Given the description of an element on the screen output the (x, y) to click on. 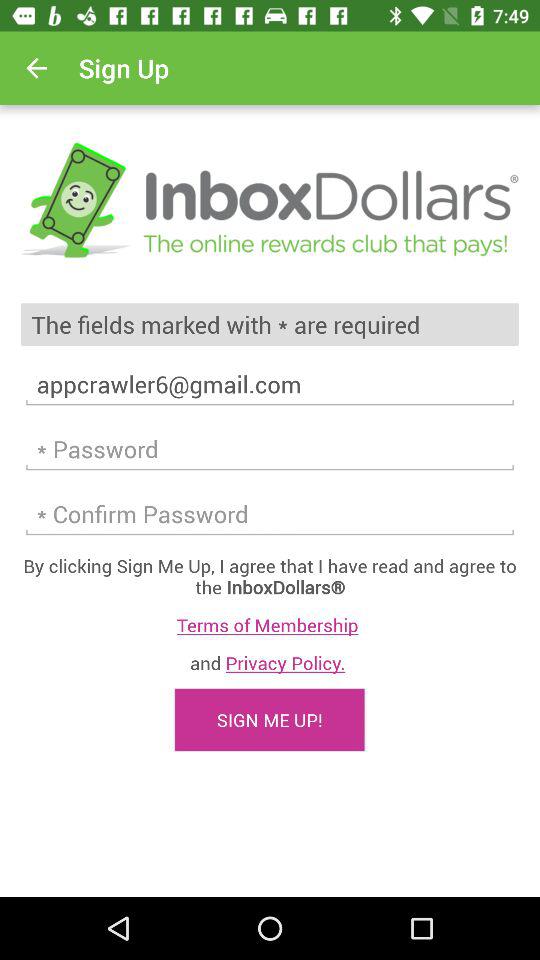
select the the fields marked item (270, 324)
